Given the description of an element on the screen output the (x, y) to click on. 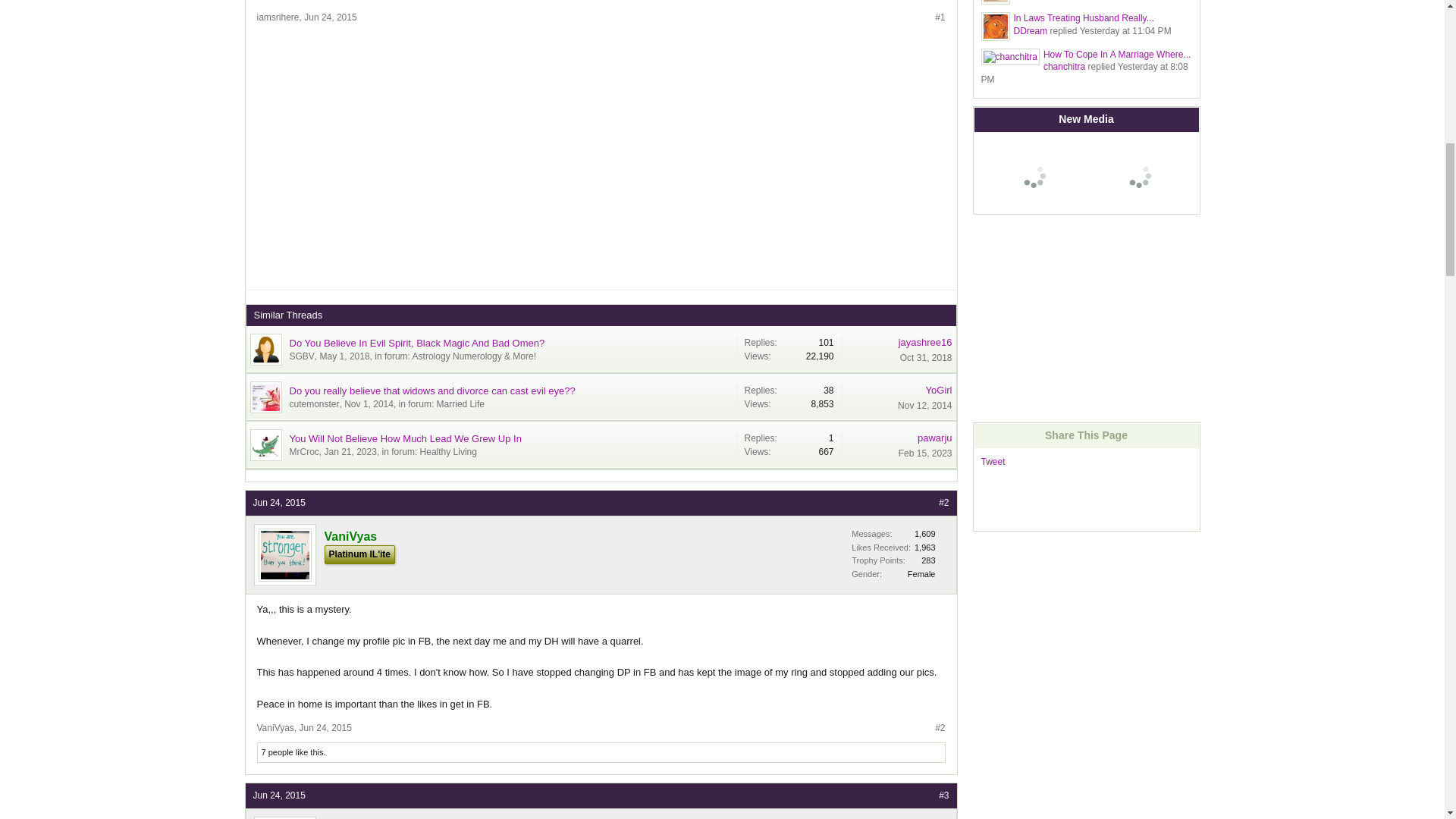
Thread starter (301, 356)
Oct 31, 2018 at 2:17 PM (925, 357)
Nov 1, 2014 at 11:18 AM (368, 403)
May 1, 2018 at 2:32 PM (344, 356)
Permalink (330, 17)
Thread starter (314, 403)
Nov 12, 2014 at 10:01 AM (925, 405)
